Given the description of an element on the screen output the (x, y) to click on. 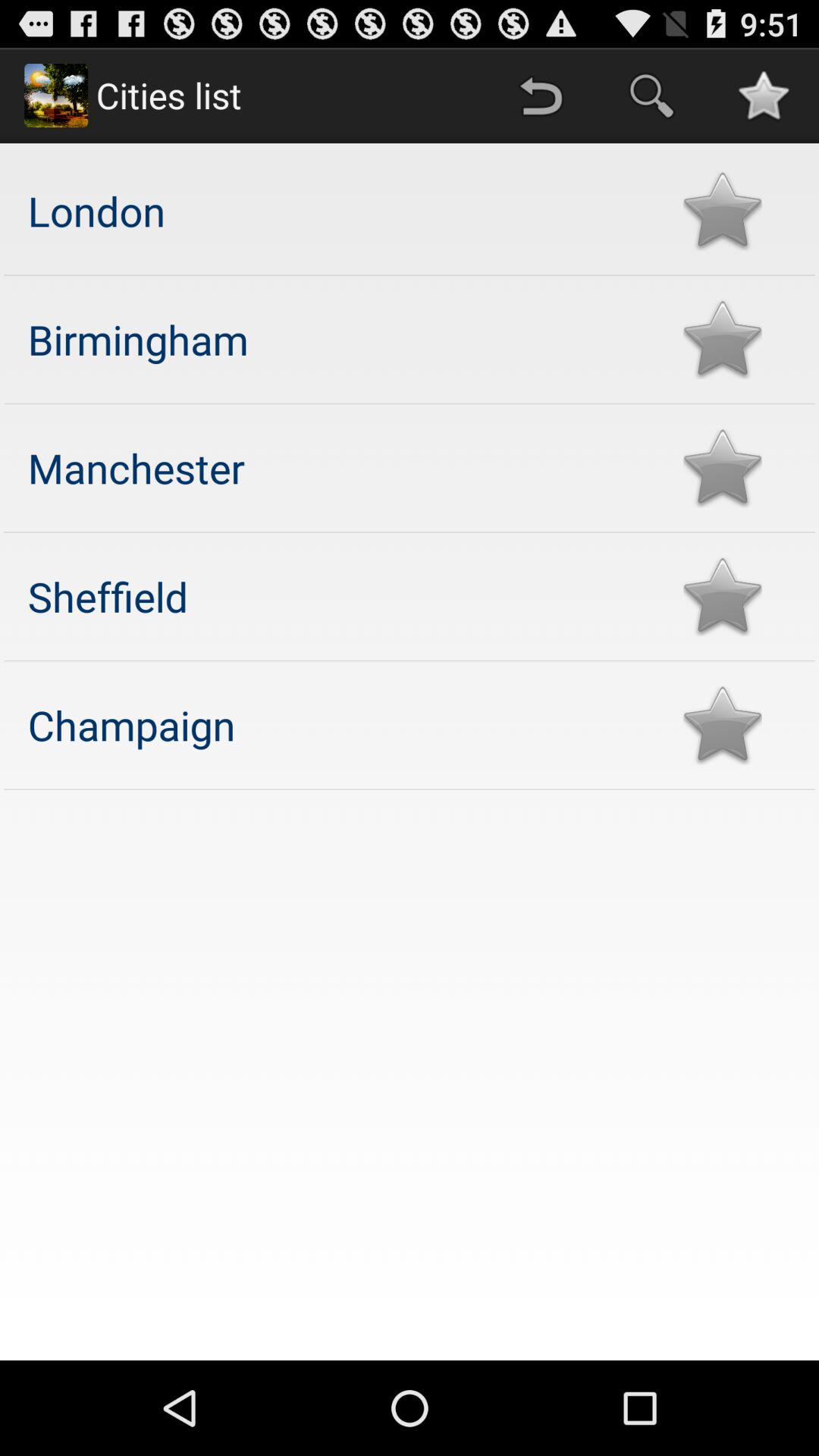
swipe until the sheffield app (340, 595)
